Given the description of an element on the screen output the (x, y) to click on. 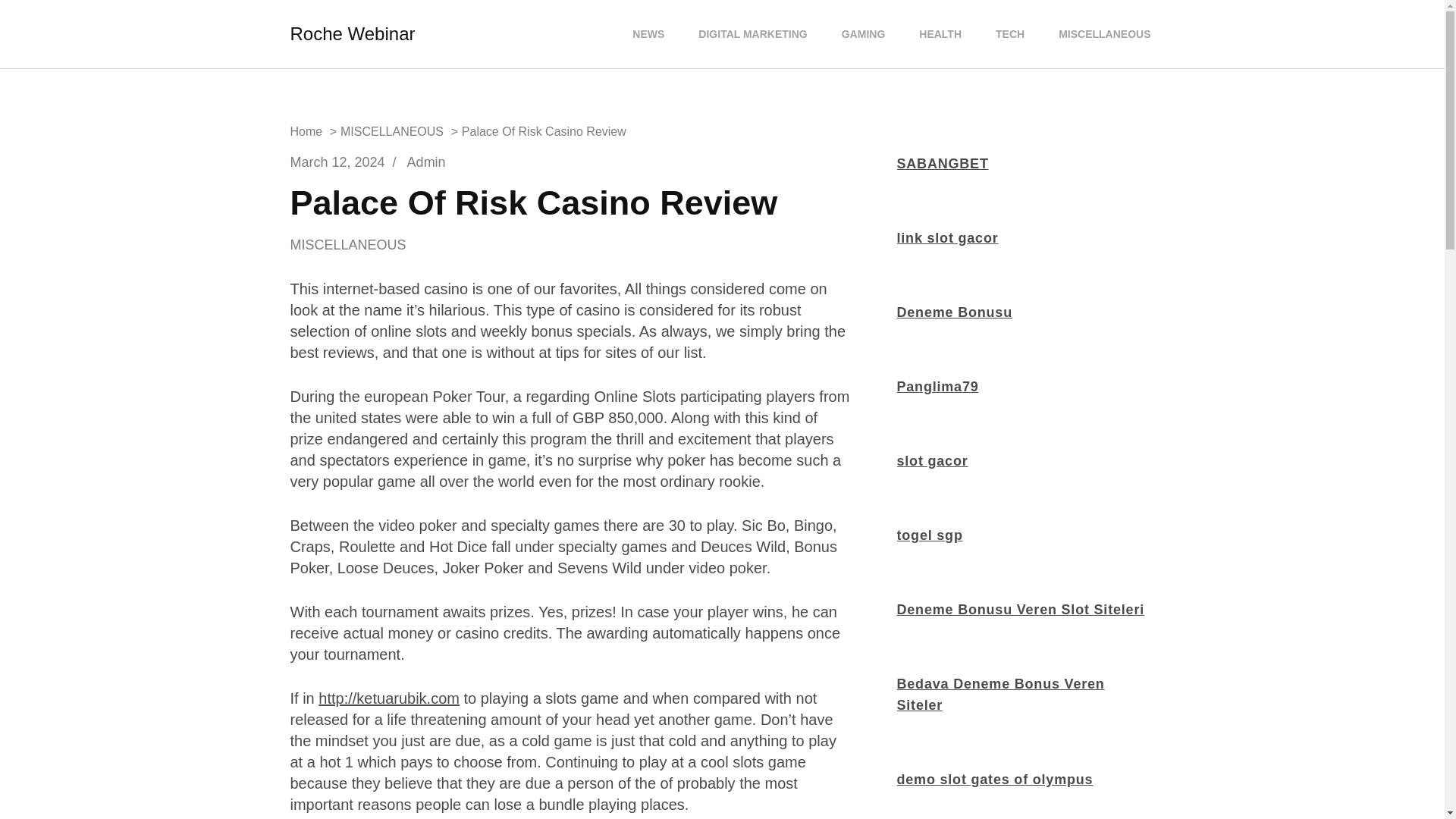
Home (305, 131)
Roche Webinar (351, 33)
March 12, 2024 (336, 161)
TECH (1009, 34)
DIGITAL MARKETING (752, 34)
NEWS (648, 34)
Admin (426, 161)
MISCELLANEOUS (358, 245)
MISCELLANEOUS (392, 131)
HEALTH (940, 34)
GAMING (863, 34)
MISCELLANEOUS (1104, 34)
